Given the description of an element on the screen output the (x, y) to click on. 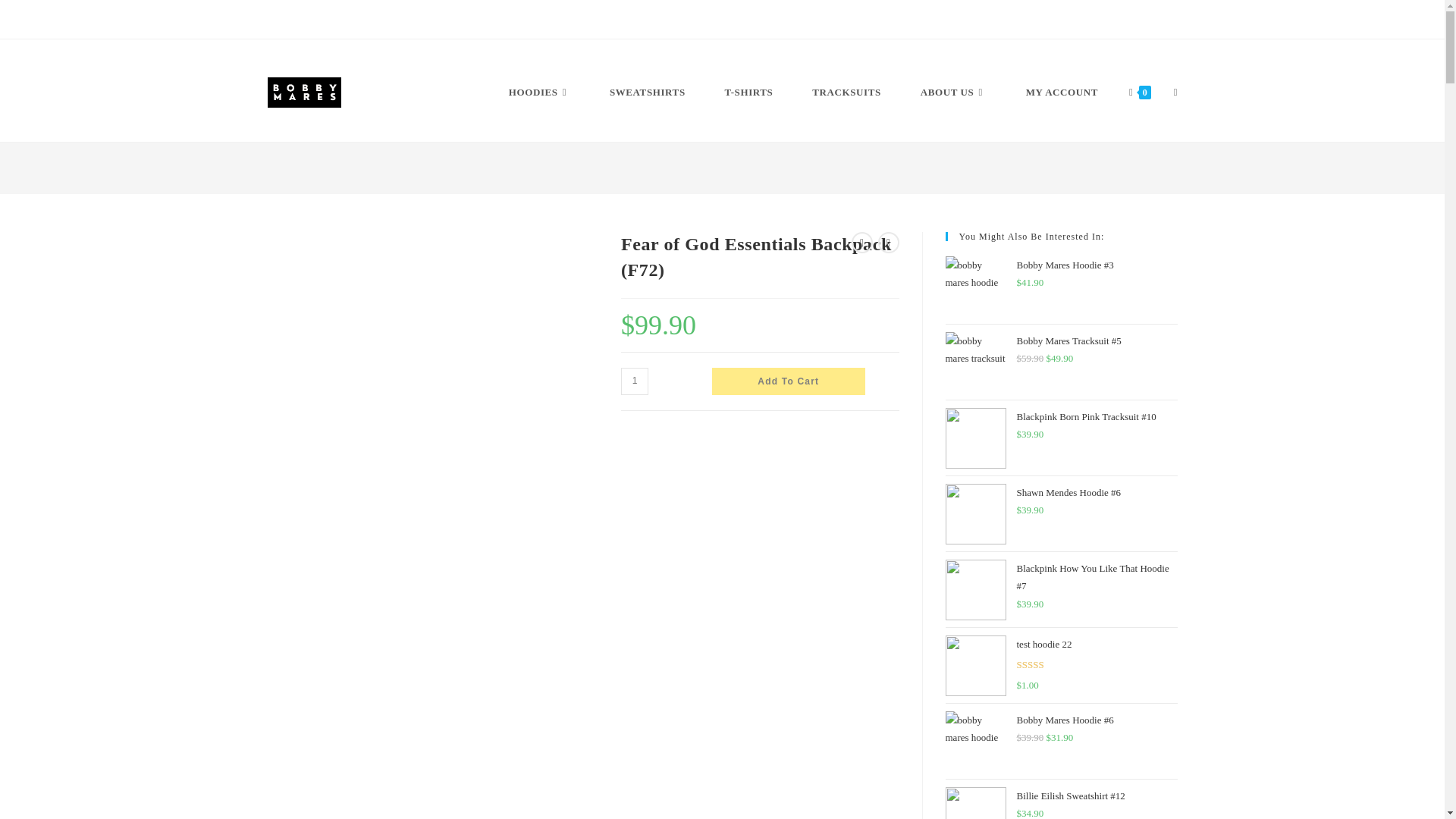
ABOUT US (953, 92)
HOODIES (539, 92)
SWEATSHIRTS (646, 92)
T-SHIRTS (748, 92)
MY ACCOUNT (1062, 92)
1 (634, 380)
Add To Cart (787, 380)
TRACKSUITS (845, 92)
4159557 (1104, 24)
